Given the description of an element on the screen output the (x, y) to click on. 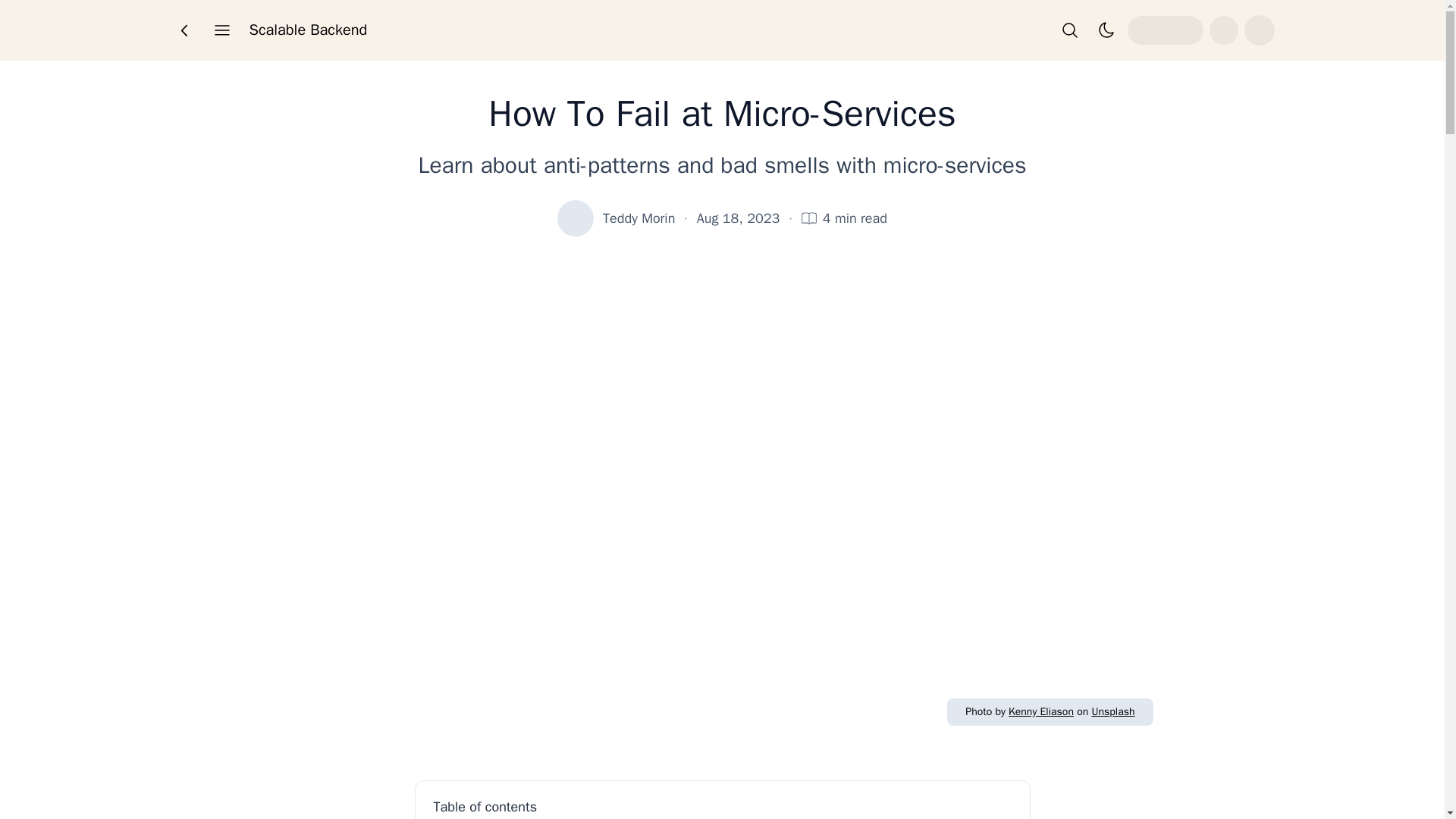
Aug 18, 2023 (738, 218)
Unsplash (1112, 711)
Kenny Eliason (1041, 711)
Teddy Morin (638, 218)
Scalable Backend (307, 29)
